Given the description of an element on the screen output the (x, y) to click on. 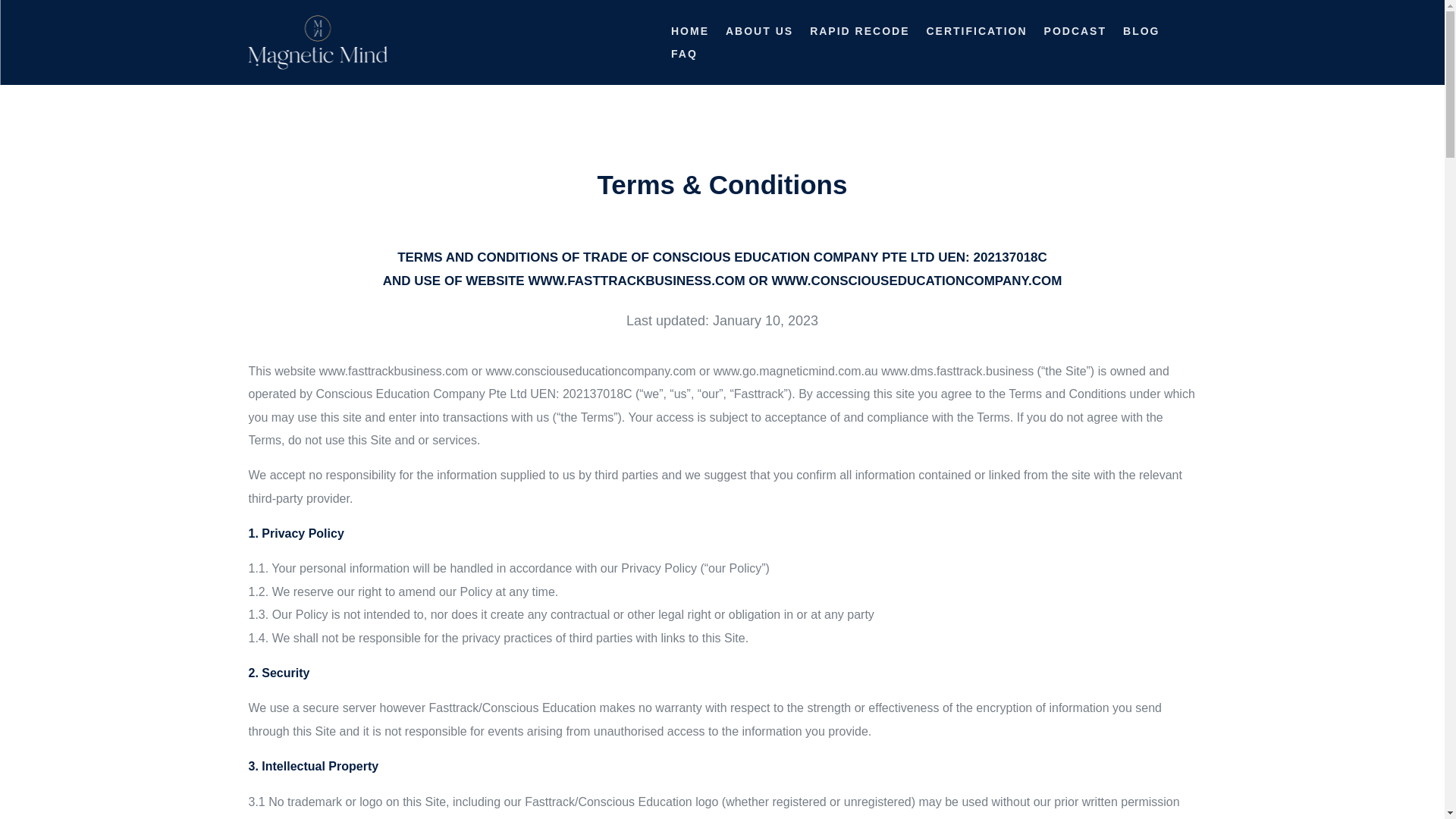
ABOUT US (759, 33)
PODCAST (1074, 33)
HOME (690, 33)
BLOG (1140, 33)
RAPID RECODE (858, 33)
CERTIFICATION (976, 33)
logo-white (317, 42)
FAQ (684, 56)
